Given the description of an element on the screen output the (x, y) to click on. 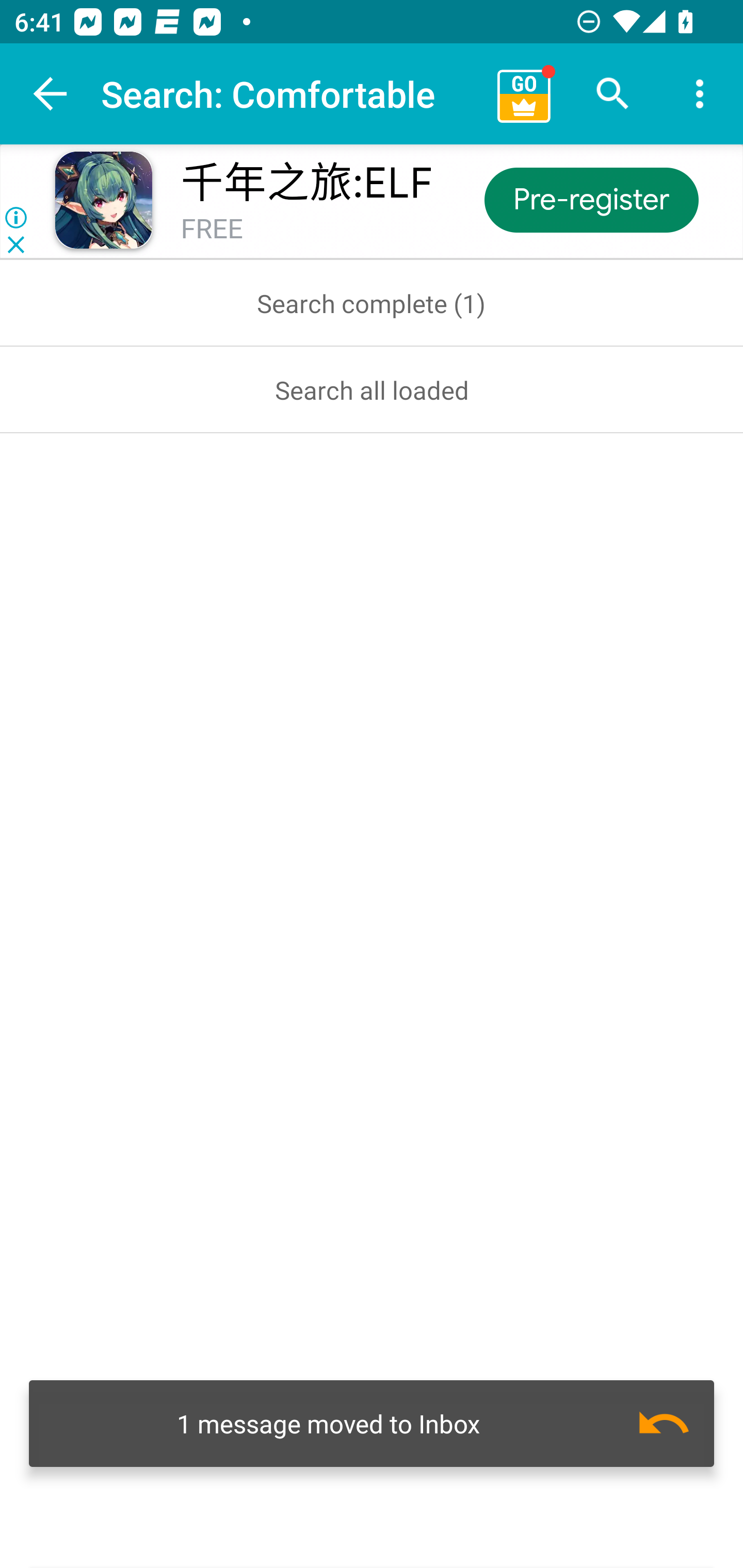
Navigate up (50, 93)
Search (612, 93)
More options (699, 93)
千年之旅:ELF (306, 183)
Pre-register (590, 199)
FREE (211, 230)
Search complete (1) (371, 303)
Search all loaded (371, 389)
Undo 1 message moved to Inbox (371, 1423)
